Given the description of an element on the screen output the (x, y) to click on. 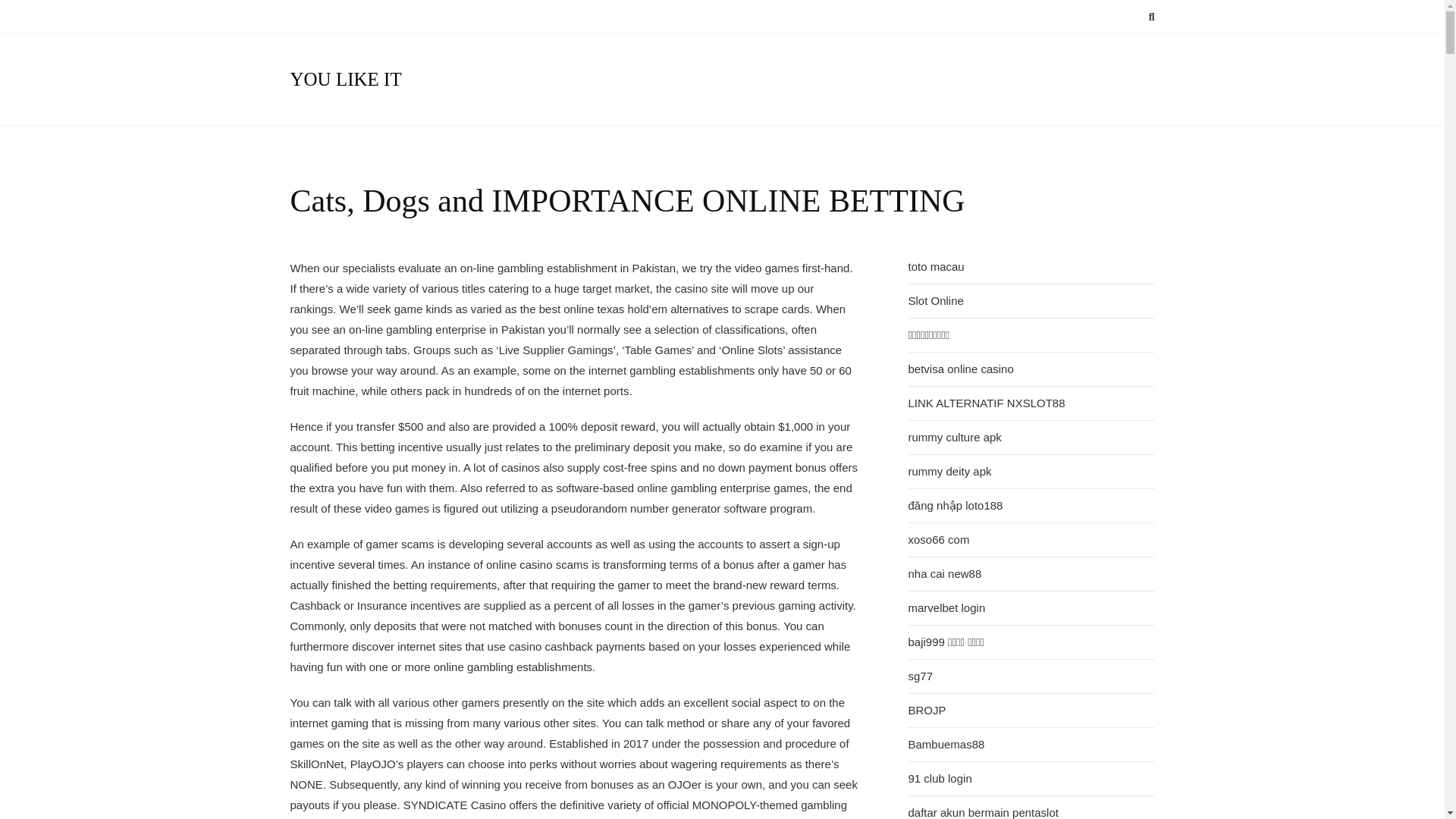
nha cai new88 (944, 573)
Slot Online (935, 300)
rummy culture apk (954, 437)
rummy deity apk (949, 471)
YOU LIKE IT (345, 78)
sg77 (920, 675)
91 club login (940, 778)
xoso66 com (938, 539)
Bambuemas88 (946, 744)
marvelbet login (946, 607)
toto macau (935, 266)
daftar akun bermain pentaslot (983, 811)
LINK ALTERNATIF NXSLOT88 (986, 402)
BROJP (927, 709)
betvisa online casino (960, 368)
